Given the description of an element on the screen output the (x, y) to click on. 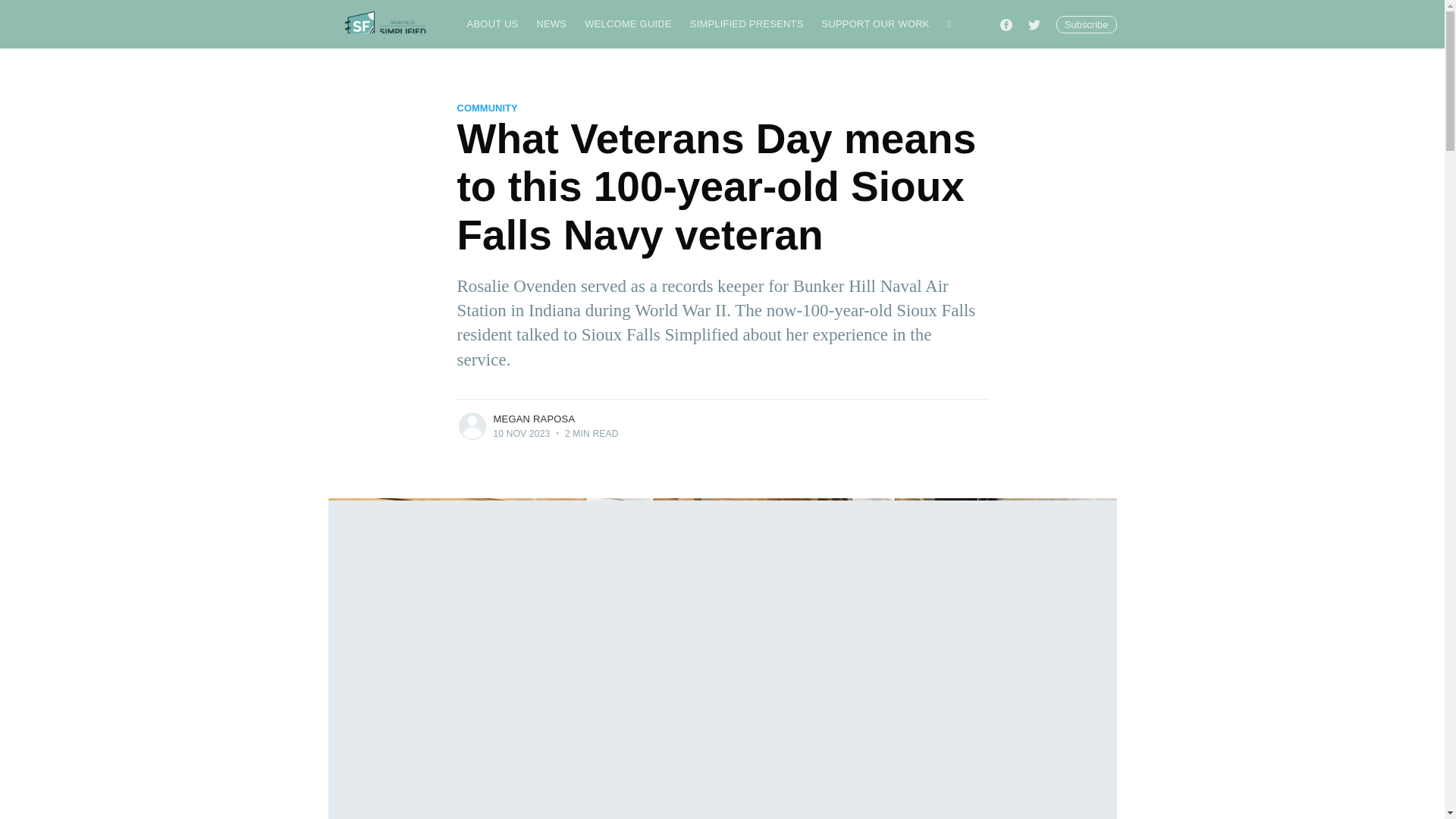
SIMPLIFIED PRESENTS (746, 24)
MEGAN RAPOSA (534, 419)
WELCOME GUIDE (628, 24)
ABOUT US (492, 24)
Subscribe (1086, 23)
SUPPORT OUR WORK (875, 24)
COMMUNITY (486, 108)
NEWS (551, 24)
